Given the description of an element on the screen output the (x, y) to click on. 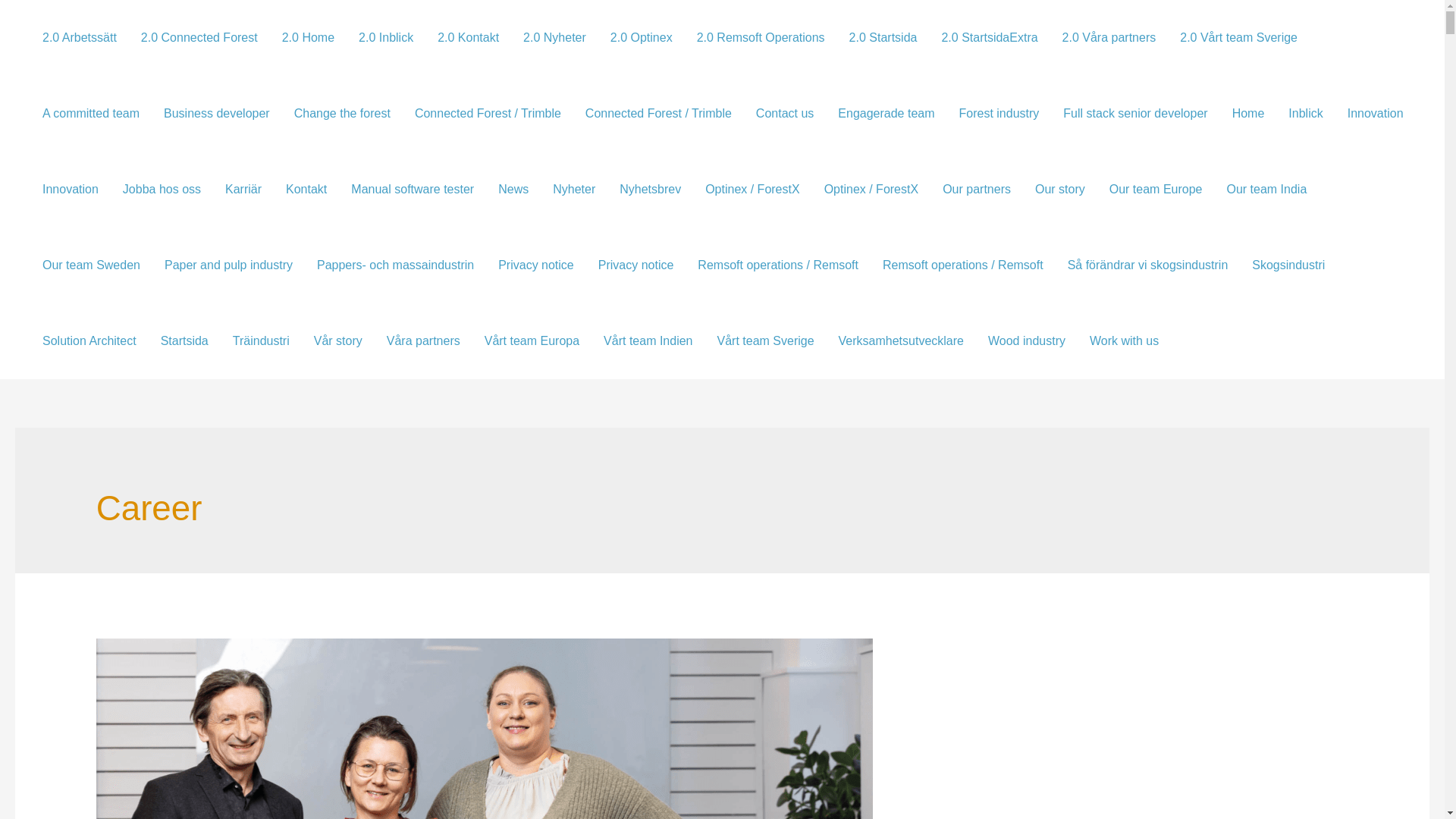
Jobba hos oss (161, 189)
2.0 Optinex (641, 38)
Business developer (216, 113)
2.0 Inblick (385, 38)
2.0 Home (307, 38)
Change the forest (342, 113)
Our team Sweden (91, 265)
Full stack senior developer (1135, 113)
Our partners (976, 189)
Our story (1060, 189)
